Given the description of an element on the screen output the (x, y) to click on. 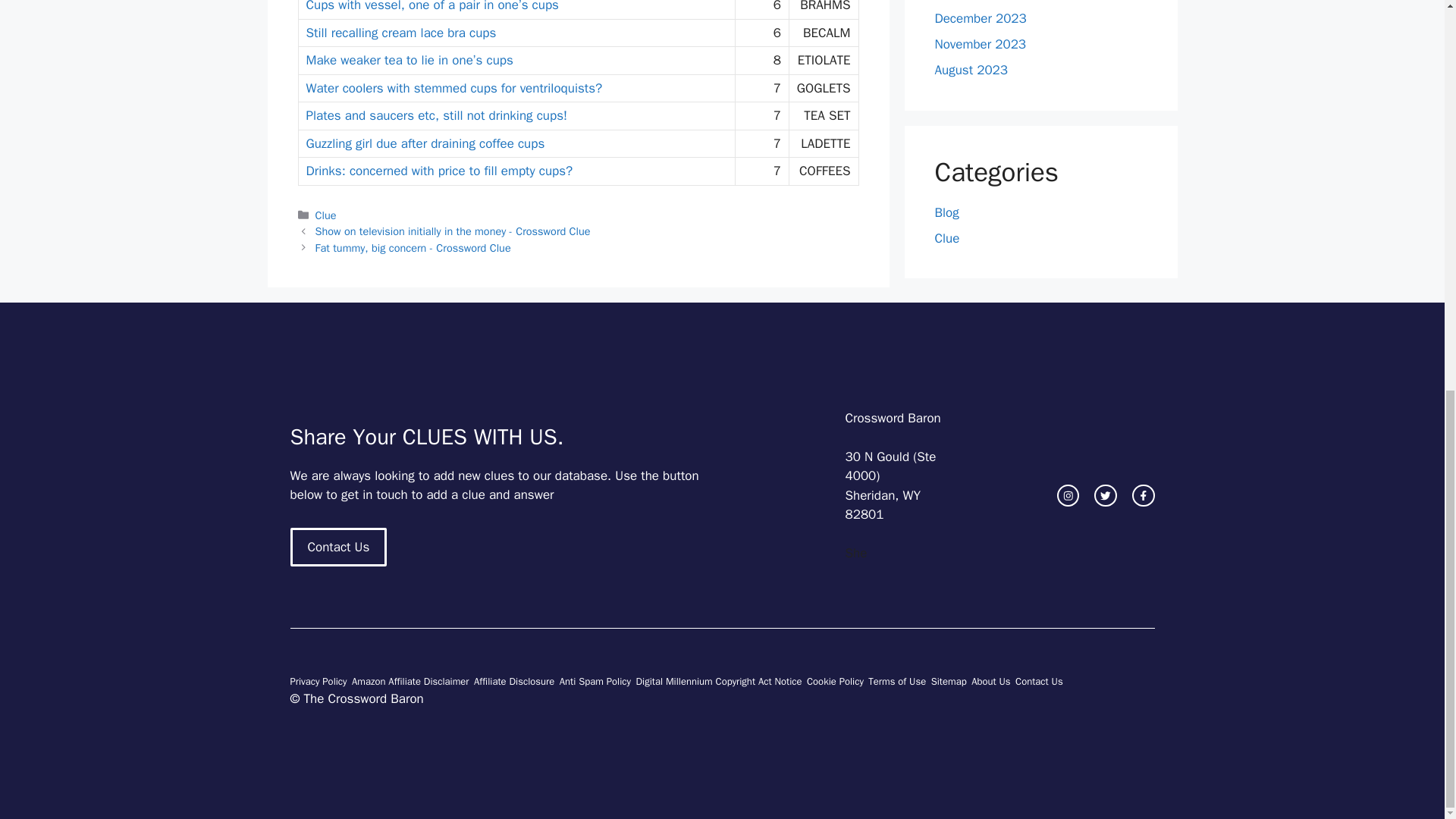
November 2023 (980, 44)
Still recalling cream lace bra cups (400, 32)
Blog (946, 212)
Clue (946, 238)
December 2023 (980, 18)
Guzzling girl due after draining coffee cups (424, 143)
Fat tummy, big concern - Crossword Clue (413, 247)
Clue (325, 214)
Show on television initially in the money - Crossword Clue (453, 231)
Plates and saucers etc, still not drinking cups! (436, 115)
